Given the description of an element on the screen output the (x, y) to click on. 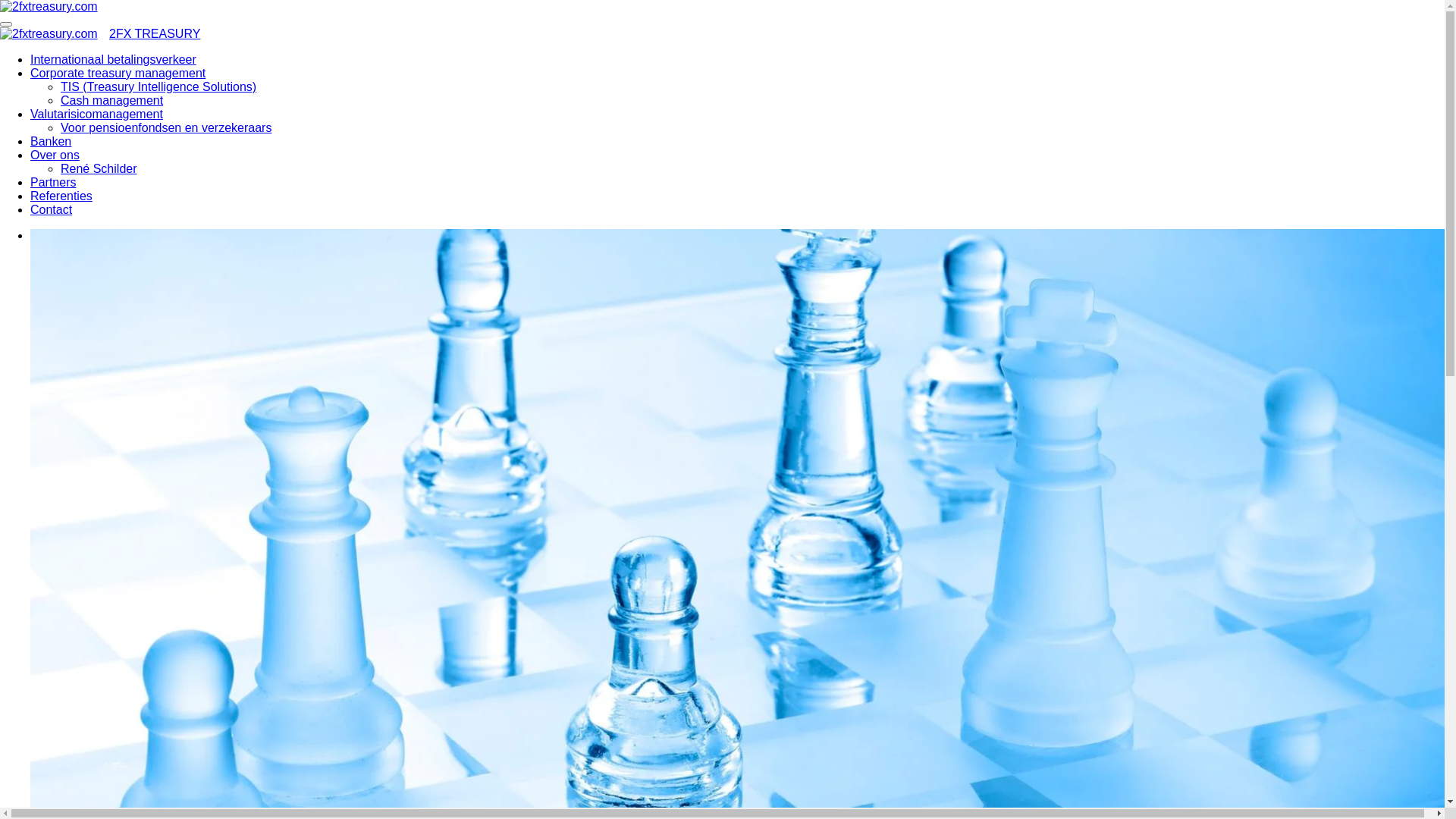
2FX TREASURY Element type: text (154, 33)
Valutarisicomanagement Element type: text (96, 113)
2fxtreasury.com Element type: hover (48, 33)
Banken Element type: text (50, 140)
Over ons Element type: text (54, 154)
2fxtreasury.com Element type: hover (48, 6)
Referenties Element type: text (61, 195)
Corporate treasury management Element type: text (117, 72)
TIS (Treasury Intelligence Solutions) Element type: text (158, 86)
Voor pensioenfondsen en verzekeraars Element type: text (165, 127)
Cash management Element type: text (111, 100)
Internationaal betalingsverkeer Element type: text (113, 59)
Contact Element type: text (51, 209)
Partners Element type: text (52, 181)
